Given the description of an element on the screen output the (x, y) to click on. 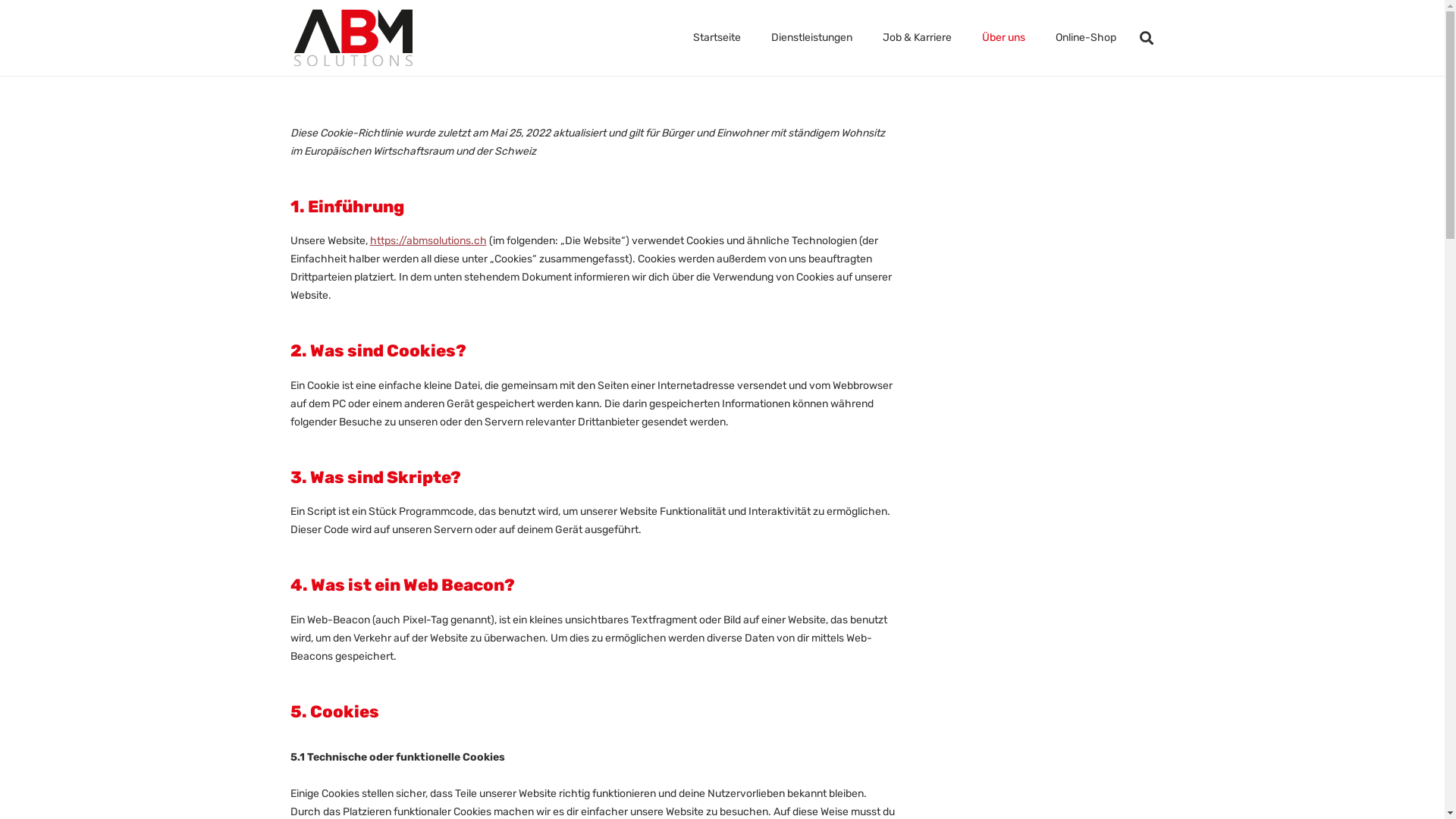
Job & Karriere Element type: text (916, 37)
https://abmsolutions.ch Element type: text (428, 240)
Dienstleistungen Element type: text (811, 37)
Online-Shop Element type: text (1085, 37)
Startseite Element type: text (716, 37)
